Given the description of an element on the screen output the (x, y) to click on. 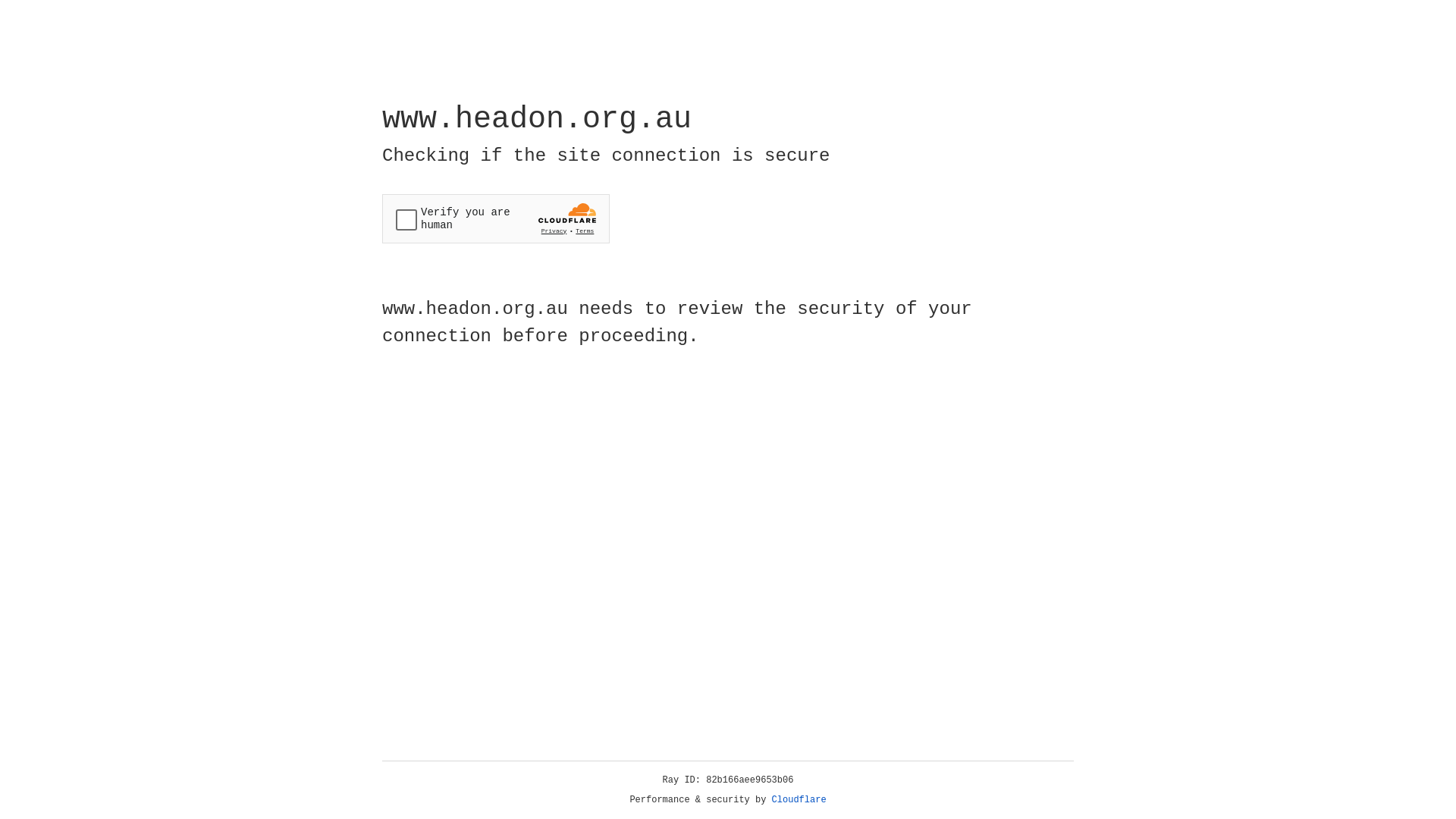
Cloudflare Element type: text (798, 799)
Widget containing a Cloudflare security challenge Element type: hover (495, 218)
